Given the description of an element on the screen output the (x, y) to click on. 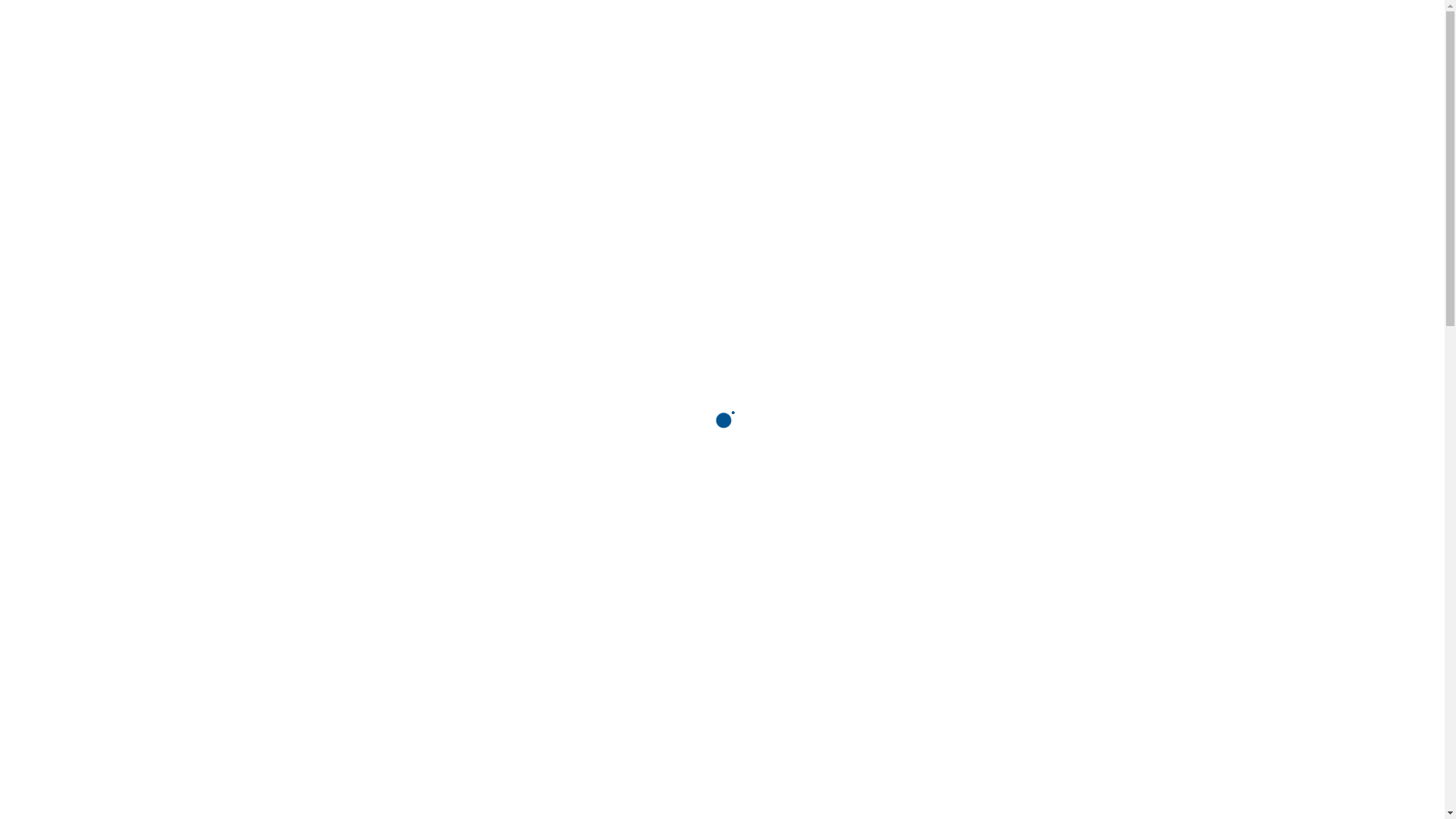
Galerij Element type: text (855, 66)
CEE Element type: hover (396, 66)
Digitale school Element type: text (753, 66)
Nederlands Element type: text (1031, 16)
ec.ceestation@mouscron.be Element type: text (505, 15)
Documenten Element type: text (950, 66)
+32 (0) 56 34 40 14 Element type: text (352, 15)
Praktische info Element type: text (1075, 66)
Onthaal Element type: text (547, 66)
De school Element type: text (636, 66)
